Given the description of an element on the screen output the (x, y) to click on. 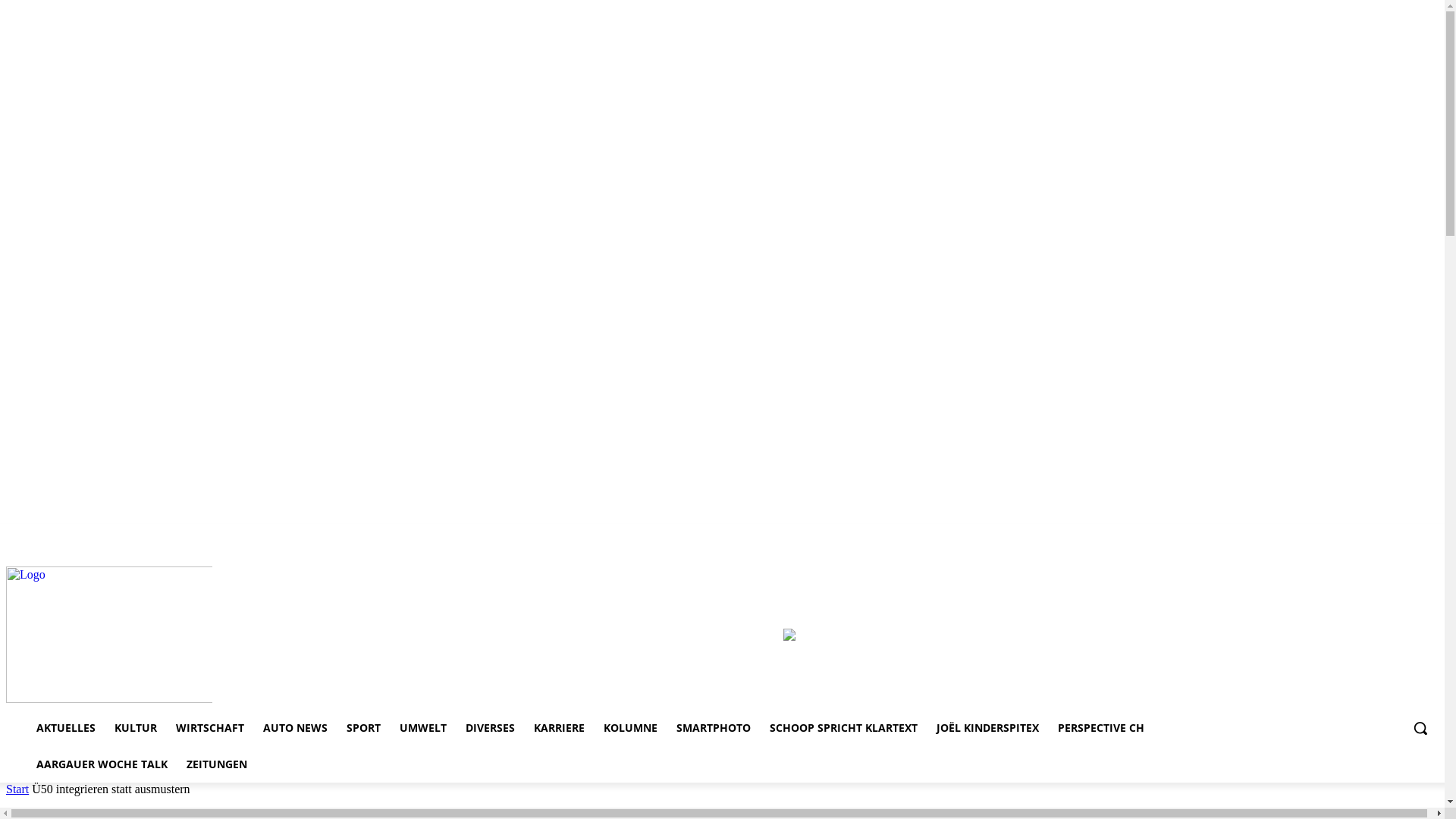
Grosse Perlenausstellung Element type: hover (789, 636)
SMARTPHOTO Element type: text (713, 727)
AKTUELLES Element type: text (65, 727)
PERSPECTIVE CH Element type: text (1100, 727)
Impressum Element type: text (1263, 555)
AUTO NEWS Element type: text (295, 727)
Start Element type: text (17, 788)
SCHOOP SPRICHT KLARTEXT Element type: text (843, 727)
UMWELT Element type: text (422, 727)
KARRIERE Element type: text (558, 727)
E-Paper Element type: text (1312, 555)
WIRTSCHAFT Element type: text (209, 727)
DIVERSES Element type: text (489, 727)
Tarife Element type: text (1354, 555)
Leitbild Element type: text (1423, 555)
KULTUR Element type: text (135, 727)
ZEITUNGEN Element type: text (216, 764)
AARGAUER WOCHE TALK Element type: text (101, 764)
AGB Element type: text (1388, 555)
SPORT Element type: text (363, 727)
KOLUMNE Element type: text (630, 727)
